Given the description of an element on the screen output the (x, y) to click on. 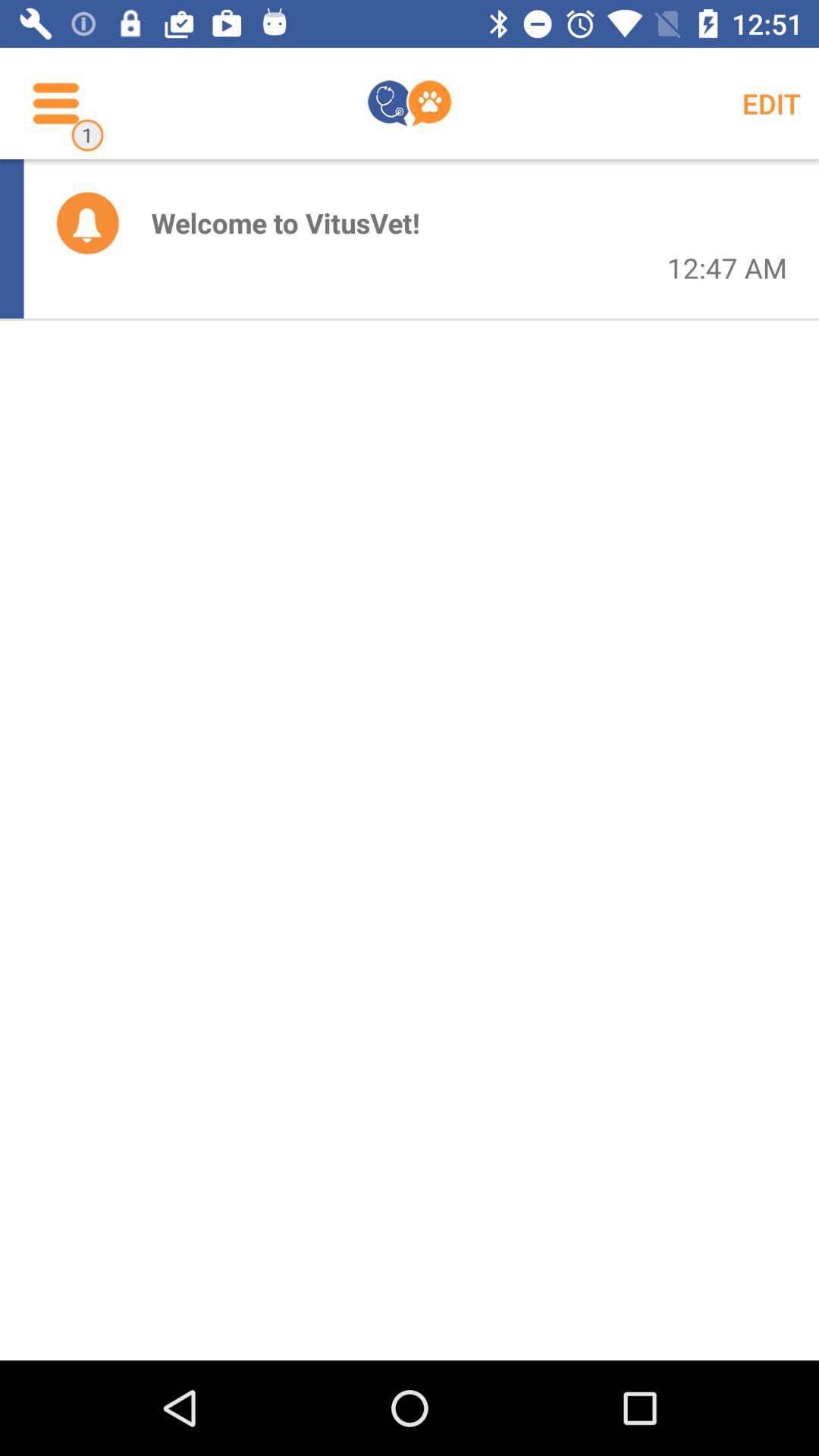
select the icon next to the welcome to vitusvet! item (727, 267)
